Given the description of an element on the screen output the (x, y) to click on. 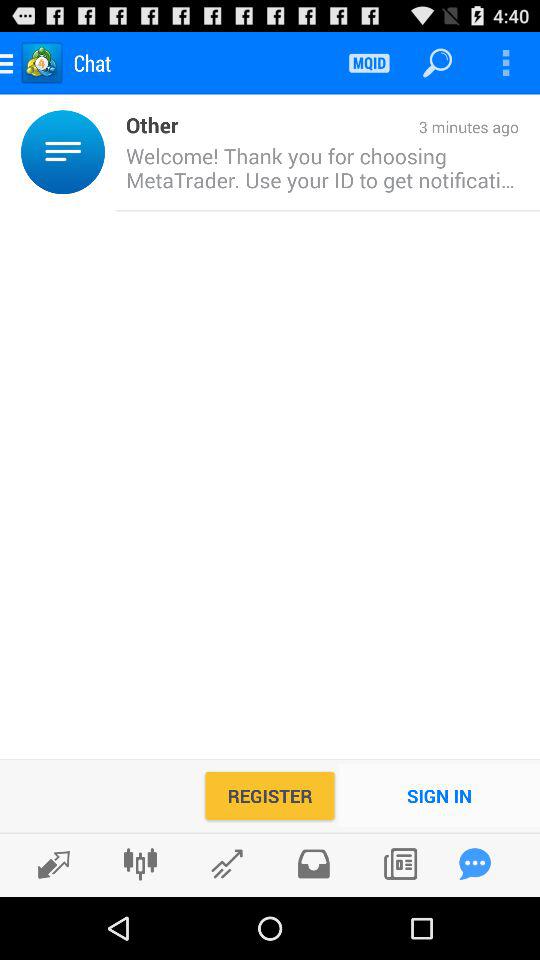
view files (313, 863)
